Given the description of an element on the screen output the (x, y) to click on. 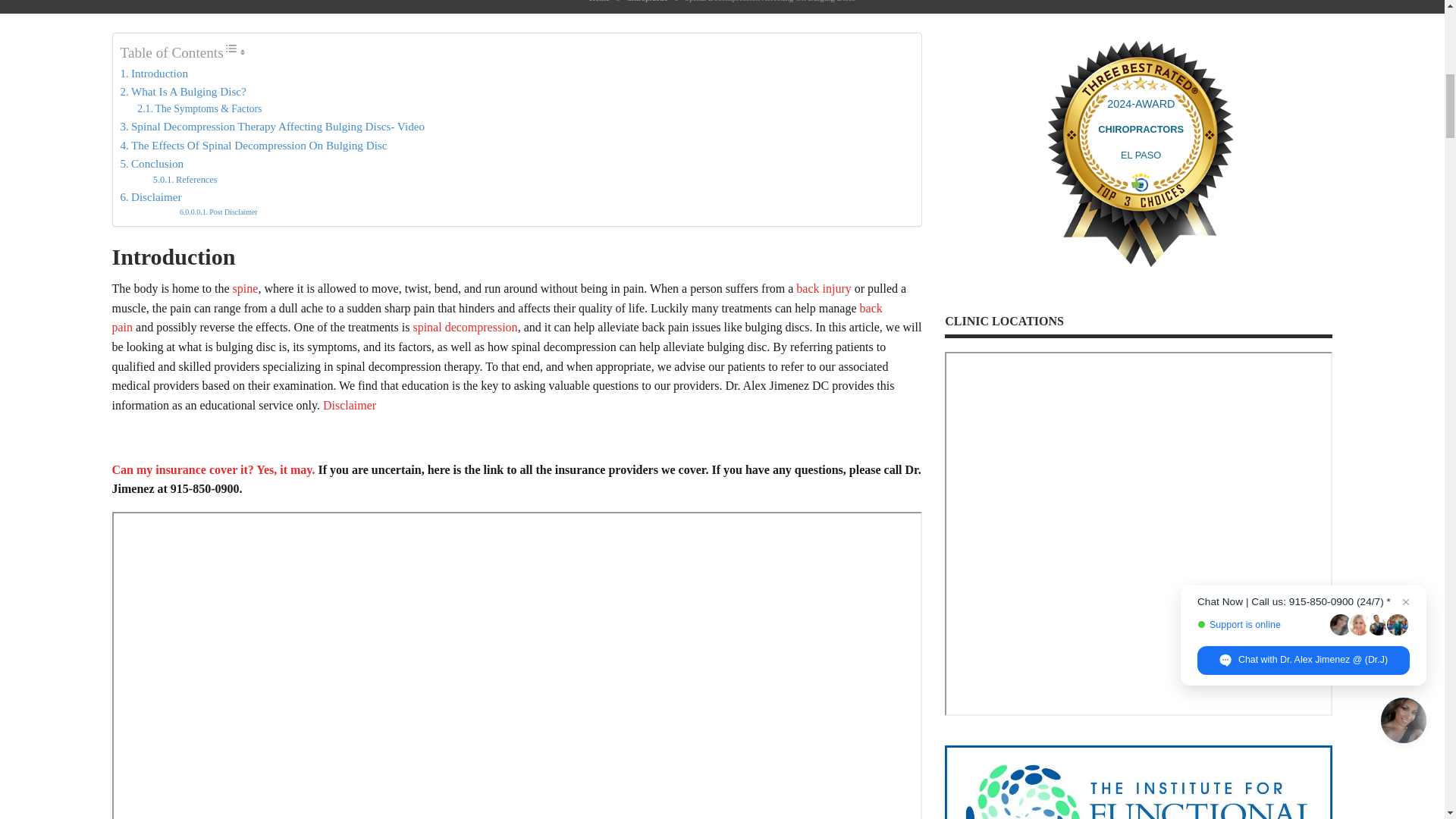
Post Disclaimer (218, 212)
Conclusion (151, 163)
The Effects Of Spinal Decompression On Bulging Disc (253, 145)
References (184, 180)
Disclaimer (149, 197)
Introduction (153, 73)
What Is A Bulging Disc? (182, 91)
Spinal Decompression Therapy Affecting Bulging Discs- Video (272, 126)
